Given the description of an element on the screen output the (x, y) to click on. 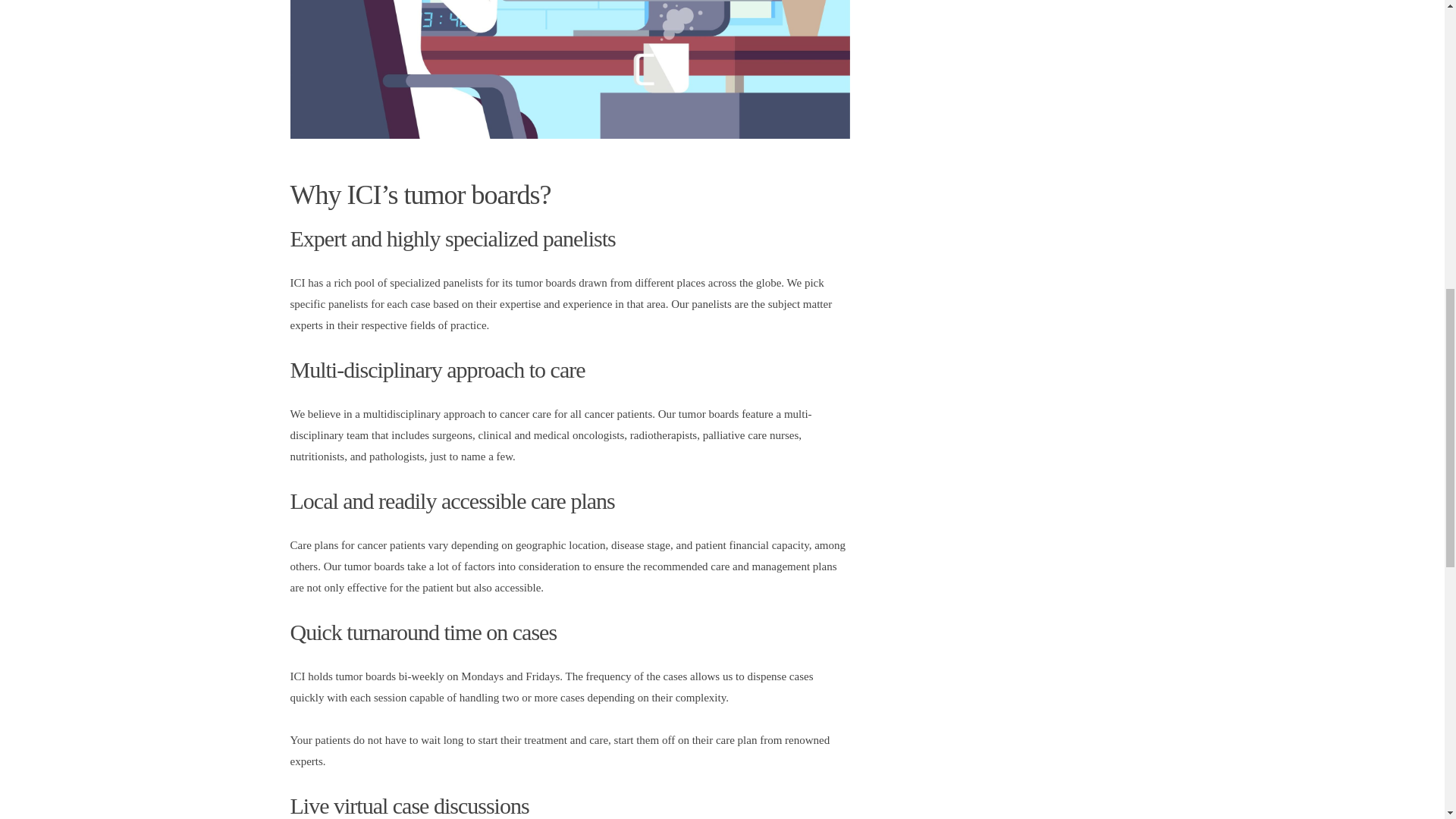
5143336 (568, 69)
